Given the description of an element on the screen output the (x, y) to click on. 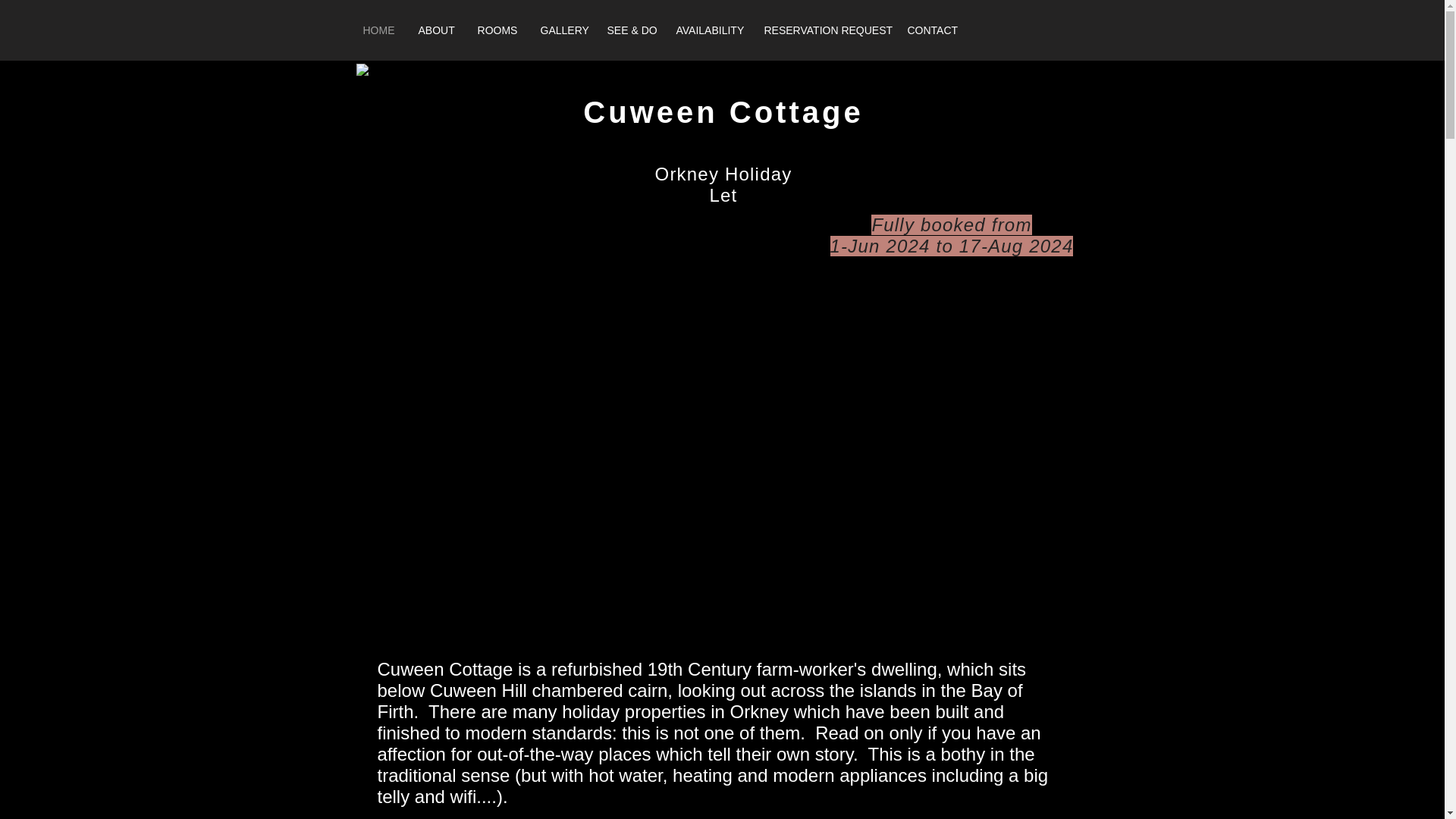
RESERVATION REQUEST (823, 29)
HOME (378, 29)
CONTACT (932, 29)
GALLERY (562, 29)
AVAILABILITY (707, 29)
ROOMS (496, 29)
ABOUT (435, 29)
